Given the description of an element on the screen output the (x, y) to click on. 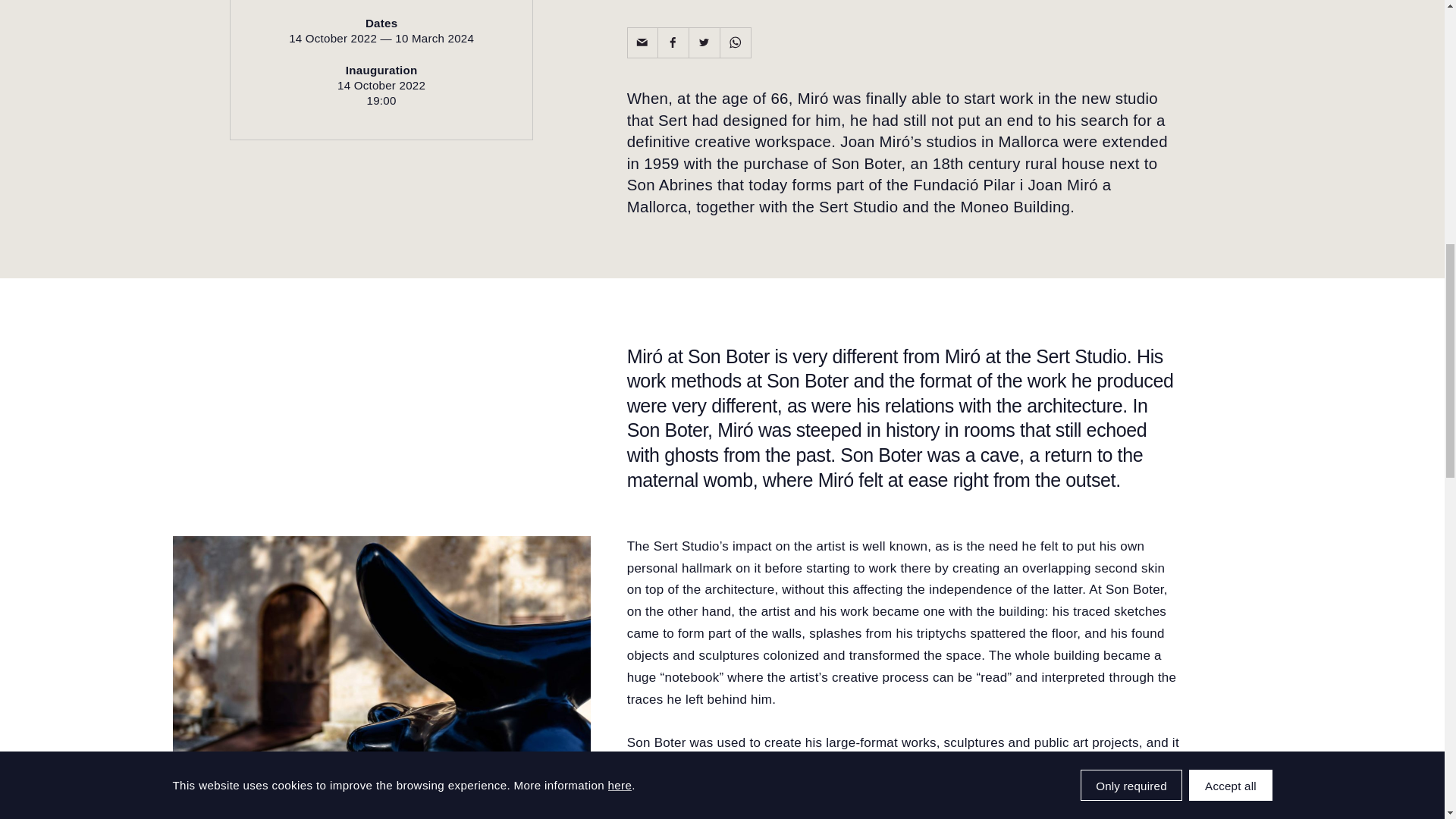
Share on Twitter (704, 42)
Share on WhatsApp (735, 42)
Email (642, 42)
Share on Facebook (673, 42)
